Given the description of an element on the screen output the (x, y) to click on. 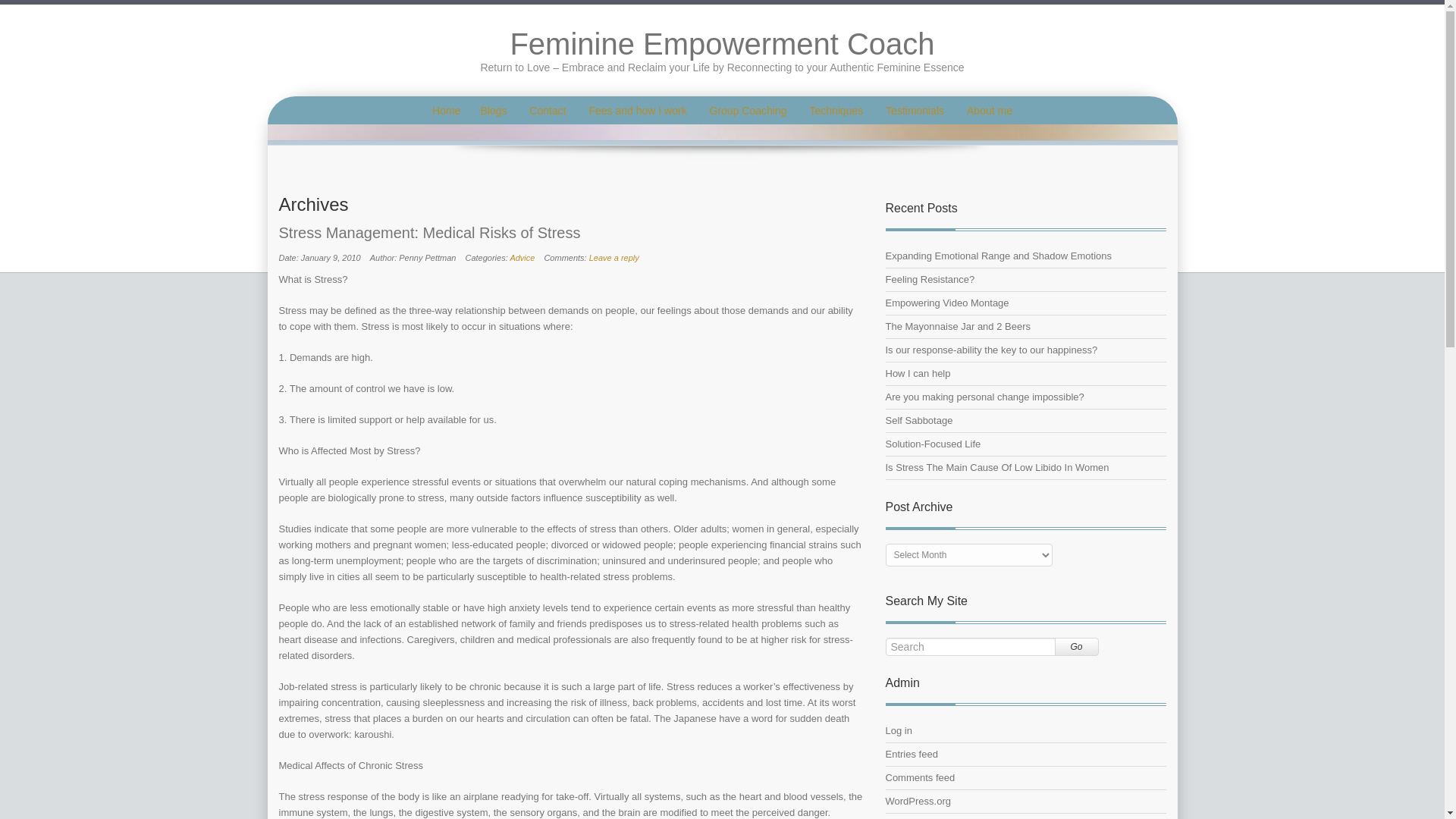
How I can help (917, 373)
Group Coaching (748, 110)
Is Stress The Main Cause Of Low Libido In Women (997, 467)
Permalink to Stress Management: Medical Risks of Stress (571, 232)
Entries feed (911, 754)
WordPress.org (917, 800)
Are you making personal change impossible? (984, 396)
Feminine Empowerment Coach (721, 43)
Feminine Empowerment Coach (721, 43)
Home (446, 110)
